Given the description of an element on the screen output the (x, y) to click on. 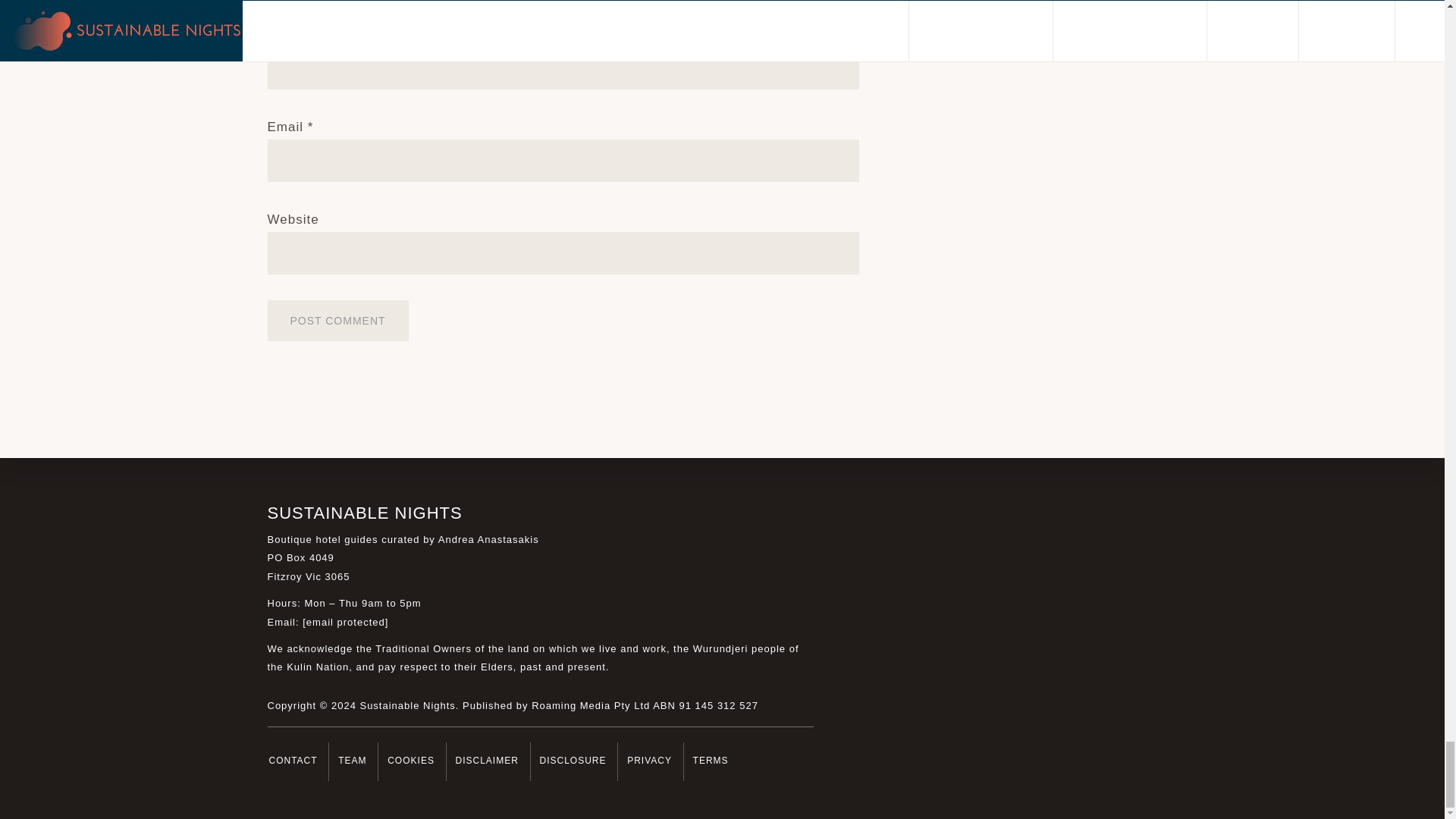
Post Comment (336, 320)
